Given the description of an element on the screen output the (x, y) to click on. 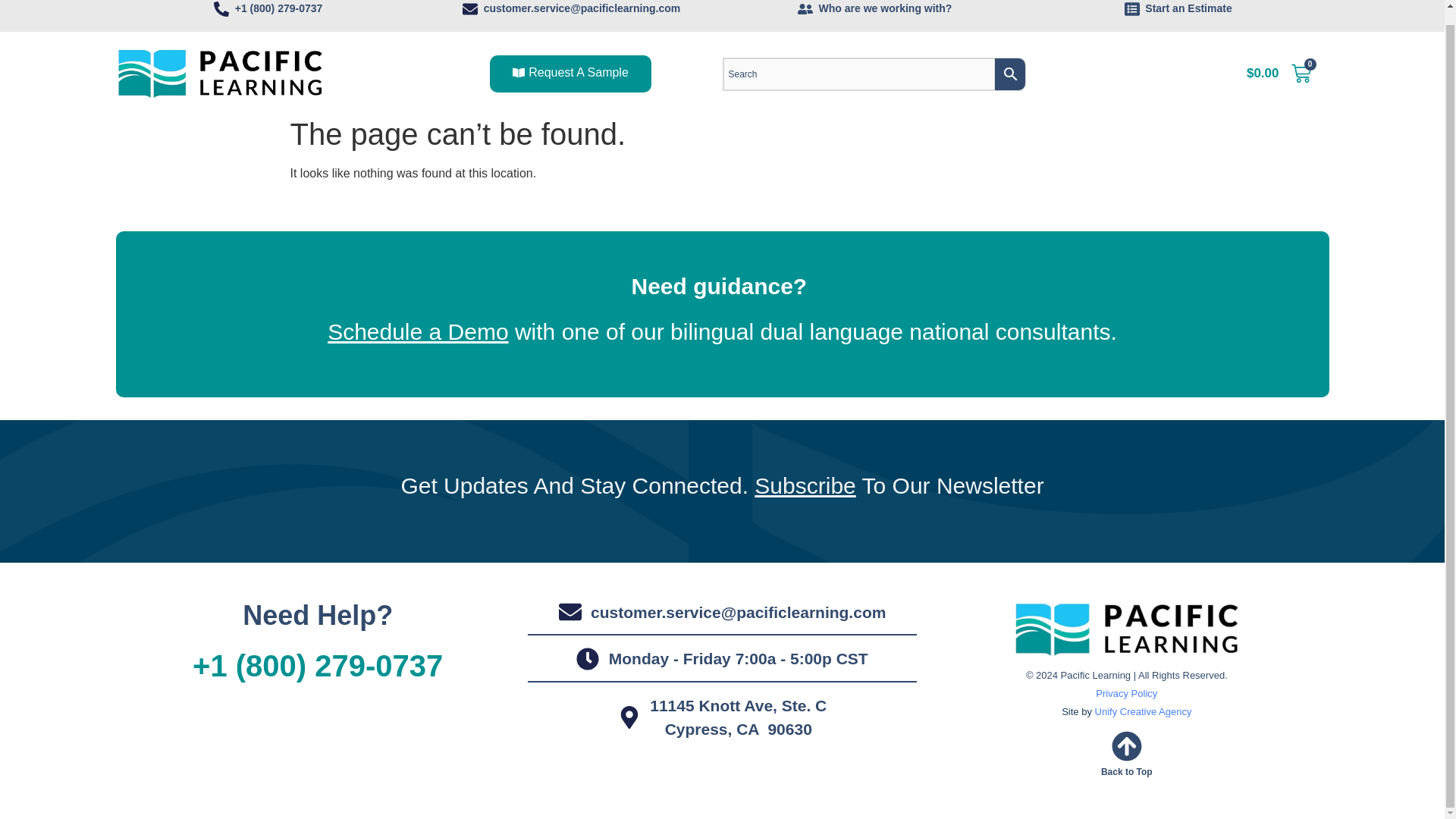
Unify Creative Agency (1143, 711)
Start an Estimate (1176, 8)
Back to Top (1126, 771)
Who are we working with? (874, 8)
Request A Sample (569, 73)
Privacy Policy (1125, 693)
